Given the description of an element on the screen output the (x, y) to click on. 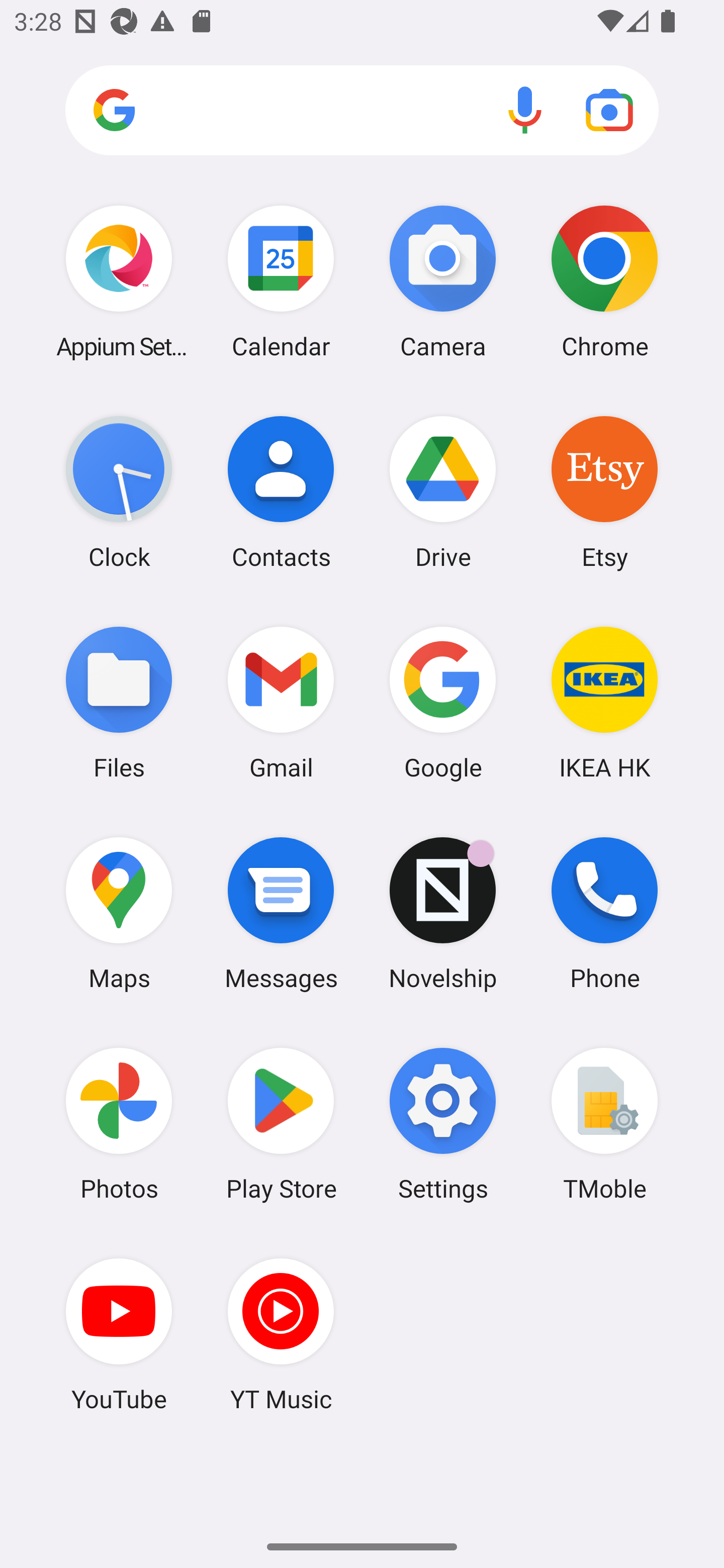
Search apps, web and more (361, 110)
Voice search (524, 109)
Google Lens (608, 109)
Appium Settings (118, 281)
Calendar (280, 281)
Camera (443, 281)
Chrome (604, 281)
Clock (118, 492)
Contacts (280, 492)
Drive (443, 492)
Etsy (604, 492)
Files (118, 702)
Gmail (280, 702)
Google (443, 702)
IKEA HK (604, 702)
Maps (118, 913)
Messages (280, 913)
Novelship Novelship has 5 notifications (443, 913)
Phone (604, 913)
Photos (118, 1124)
Play Store (280, 1124)
Settings (443, 1124)
TMoble (604, 1124)
YouTube (118, 1334)
YT Music (280, 1334)
